Given the description of an element on the screen output the (x, y) to click on. 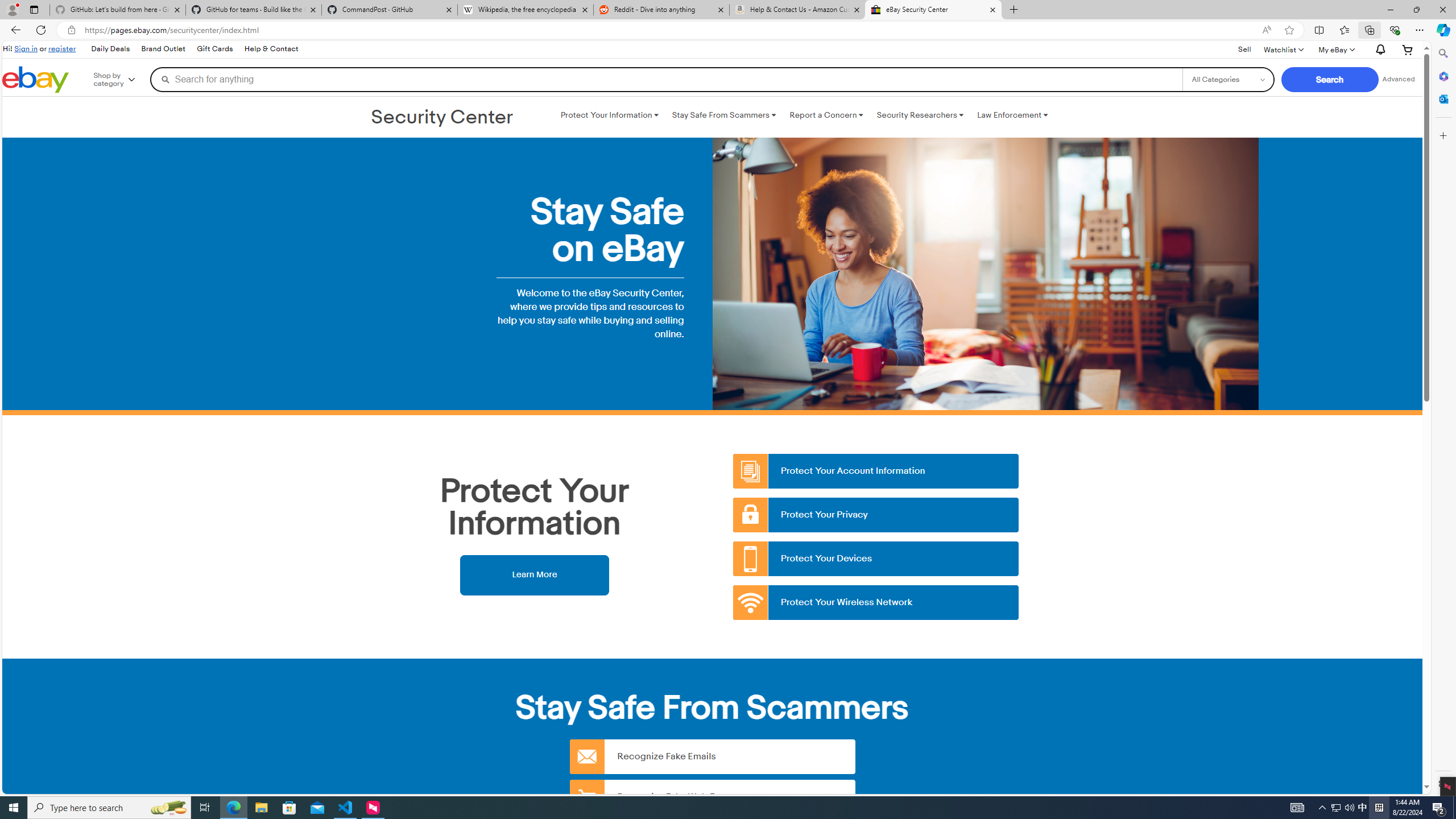
Stay Safe From Scammers  (723, 115)
AutomationID: gh-eb-Alerts (1378, 49)
Brand Outlet (162, 49)
Protect Your Devices (876, 558)
Law Enforcement  (1012, 115)
Sign in (25, 48)
eBay Home (35, 79)
eBay Home (35, 79)
register (61, 48)
